Given the description of an element on the screen output the (x, y) to click on. 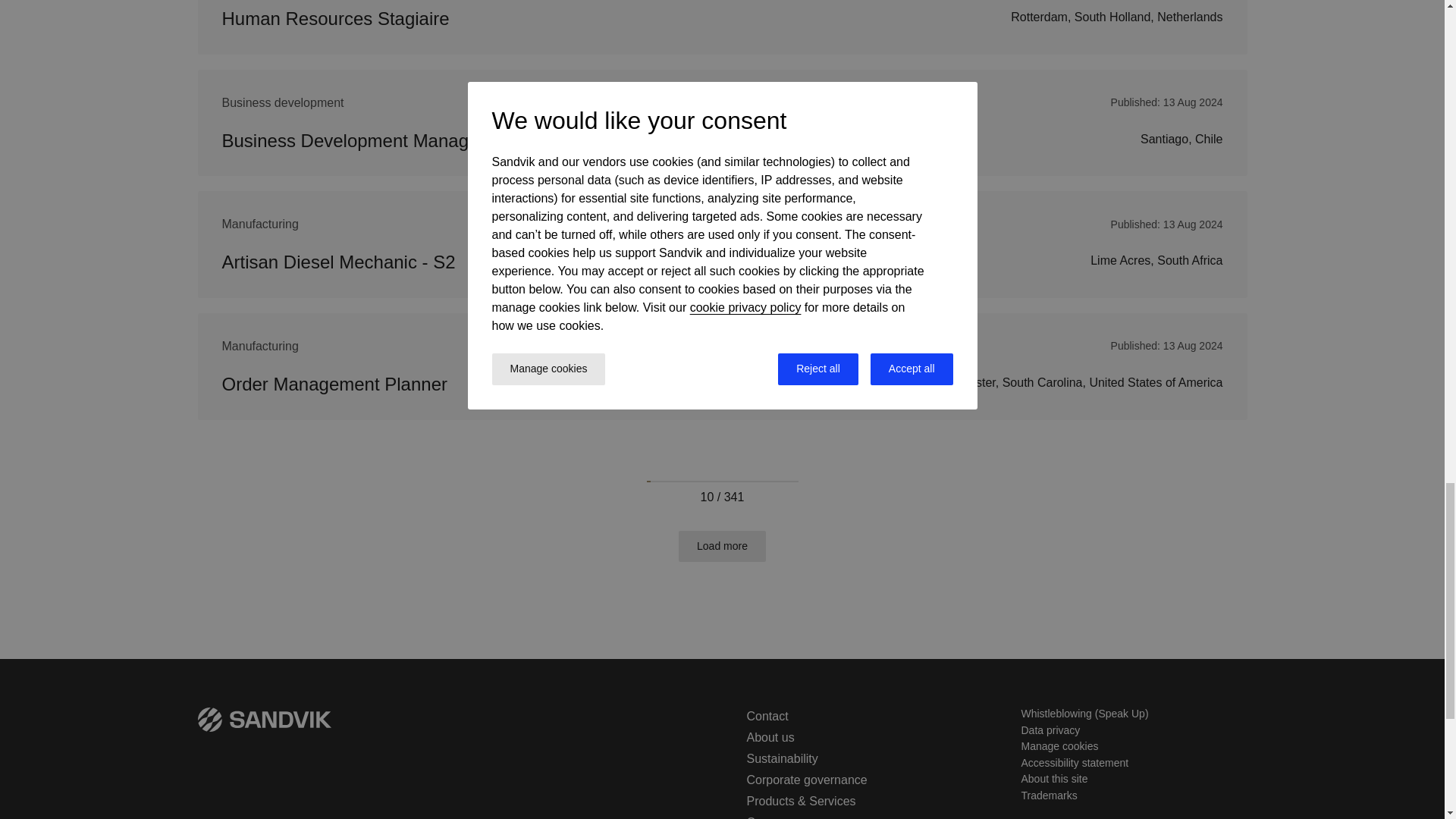
Careers (767, 817)
Data privacy (1050, 729)
Sustainability (780, 758)
About this site (1053, 778)
Manage cookies (1058, 746)
About us (769, 737)
Accessibility statement (1074, 762)
Corporate governance (805, 779)
